Given the description of an element on the screen output the (x, y) to click on. 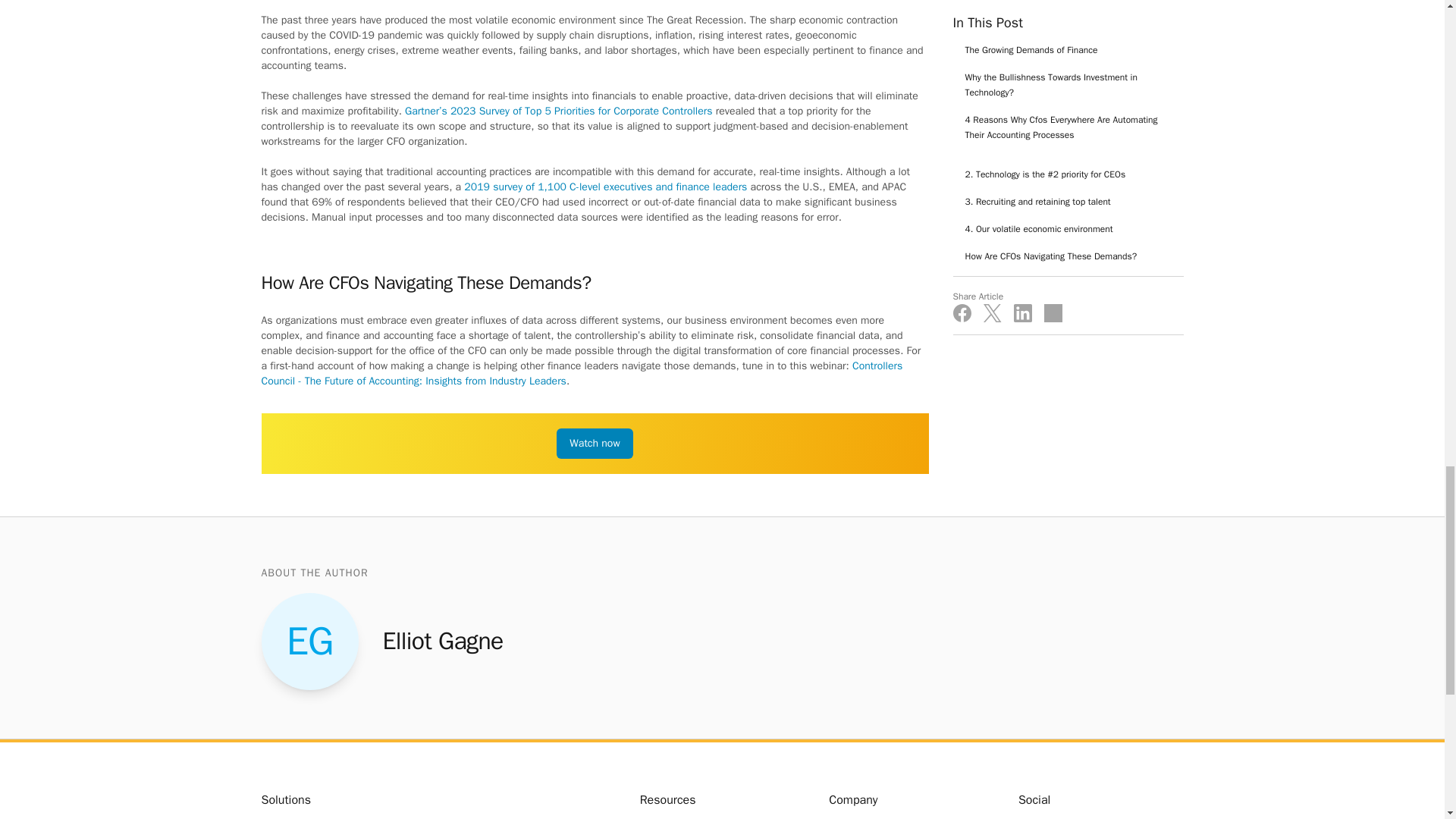
2019 survey of 1,100 C-level executives and finance leaders (605, 186)
Watch now (593, 443)
